Given the description of an element on the screen output the (x, y) to click on. 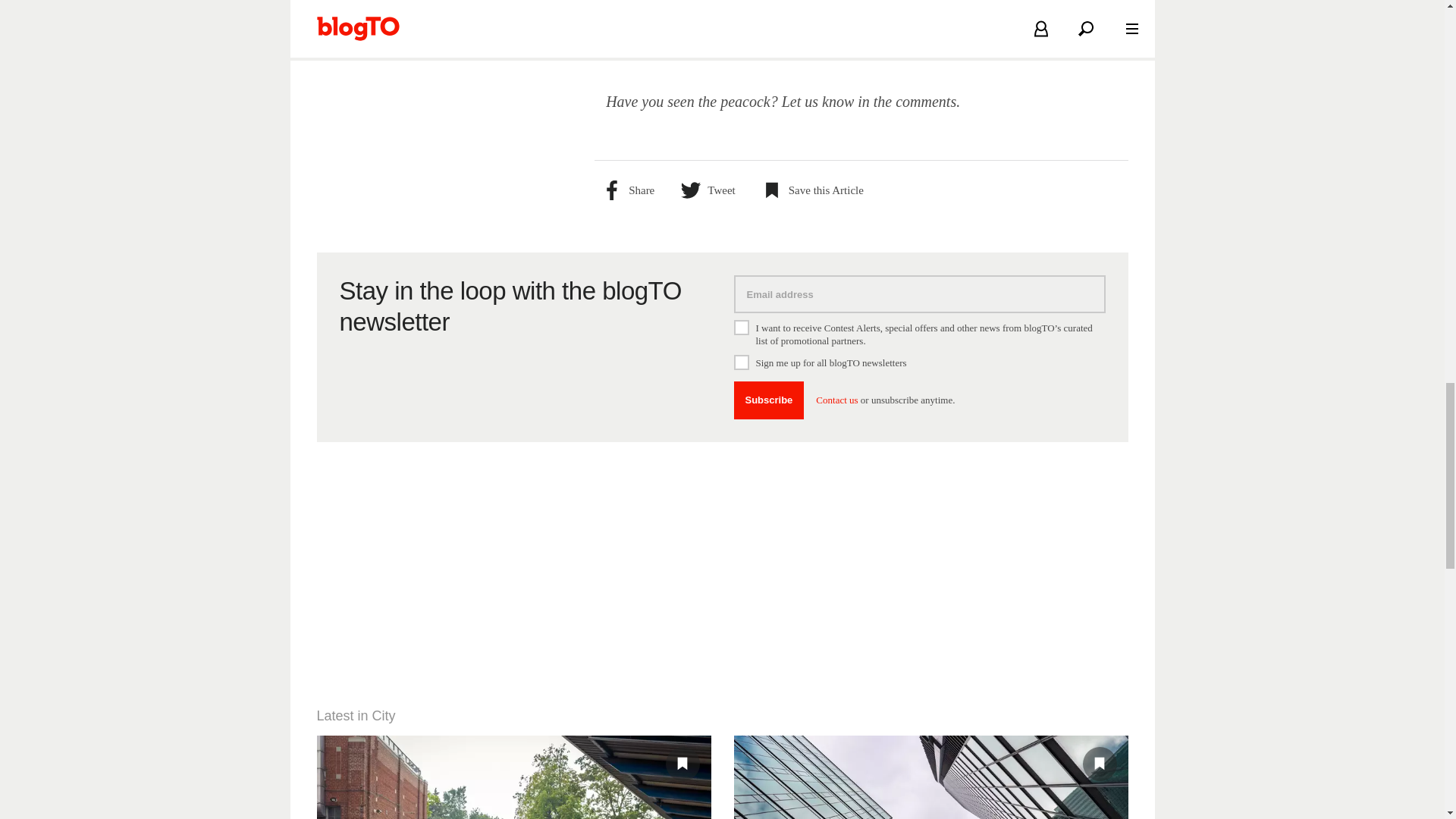
Subscribe (769, 400)
